Given the description of an element on the screen output the (x, y) to click on. 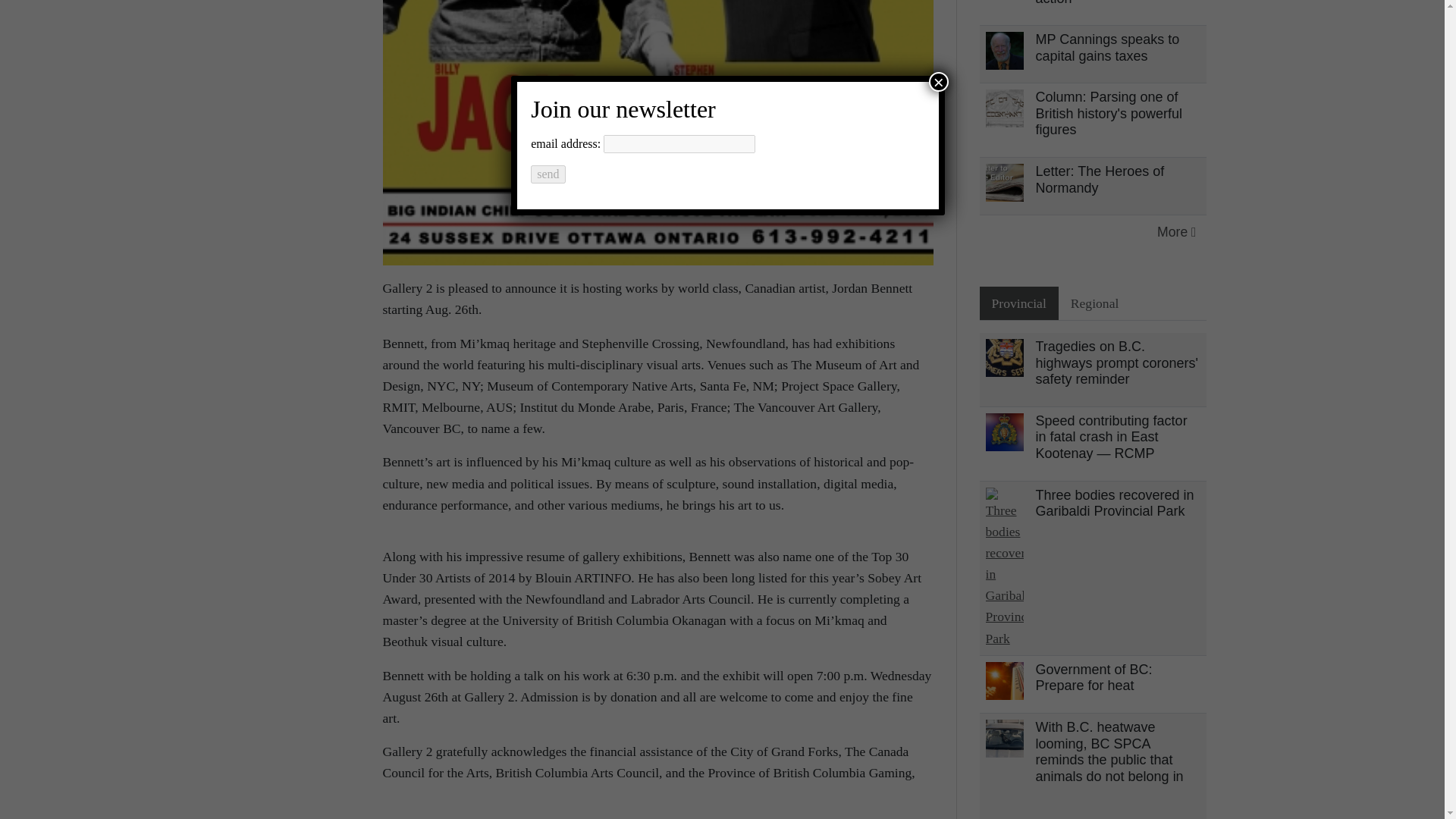
Column: Undeniable economic case for climate action (1114, 2)
